Given the description of an element on the screen output the (x, y) to click on. 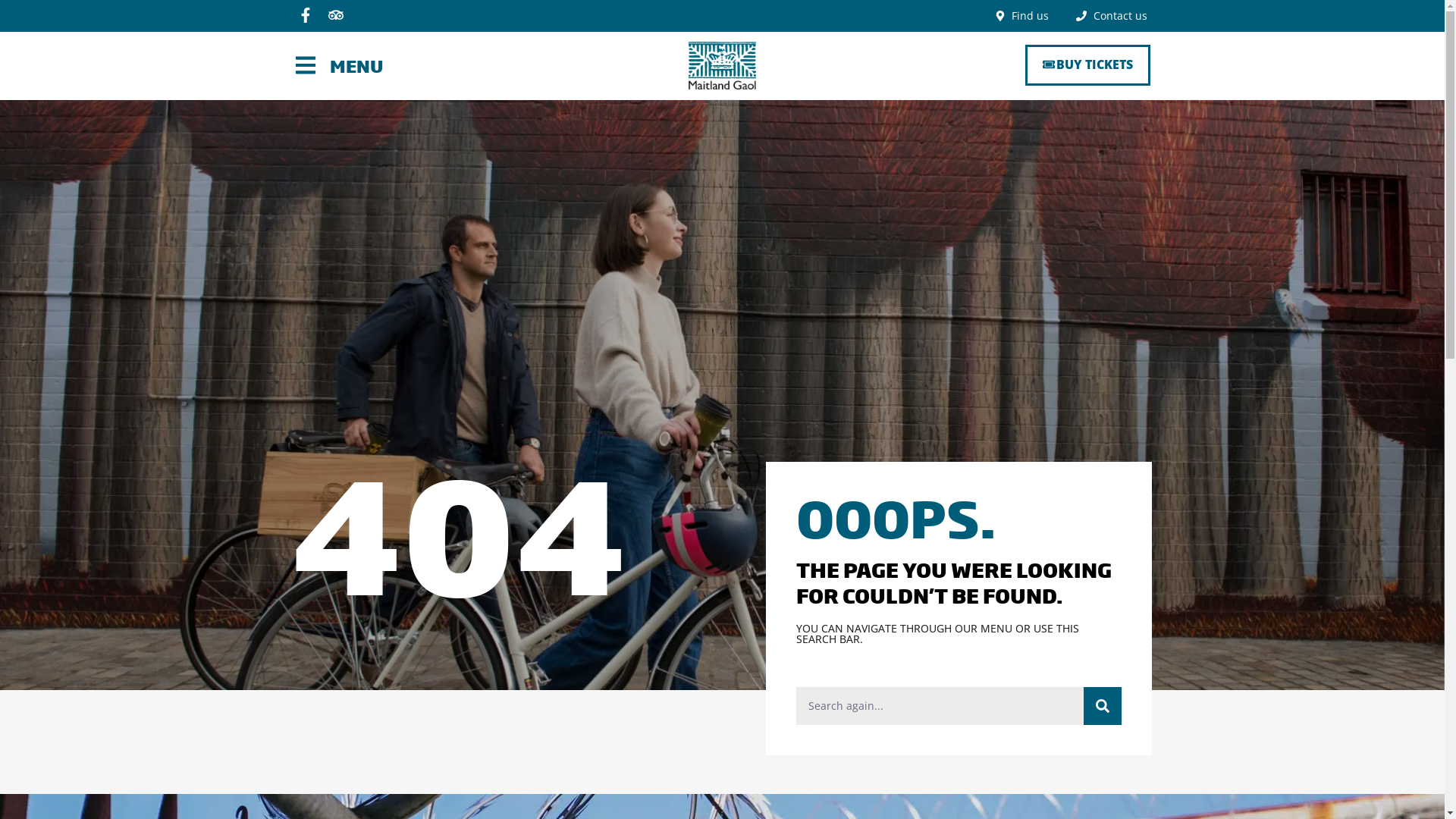
BUY TICKETS Element type: text (1087, 64)
Find us Element type: text (1021, 15)
Contact us Element type: text (1111, 15)
